Given the description of an element on the screen output the (x, y) to click on. 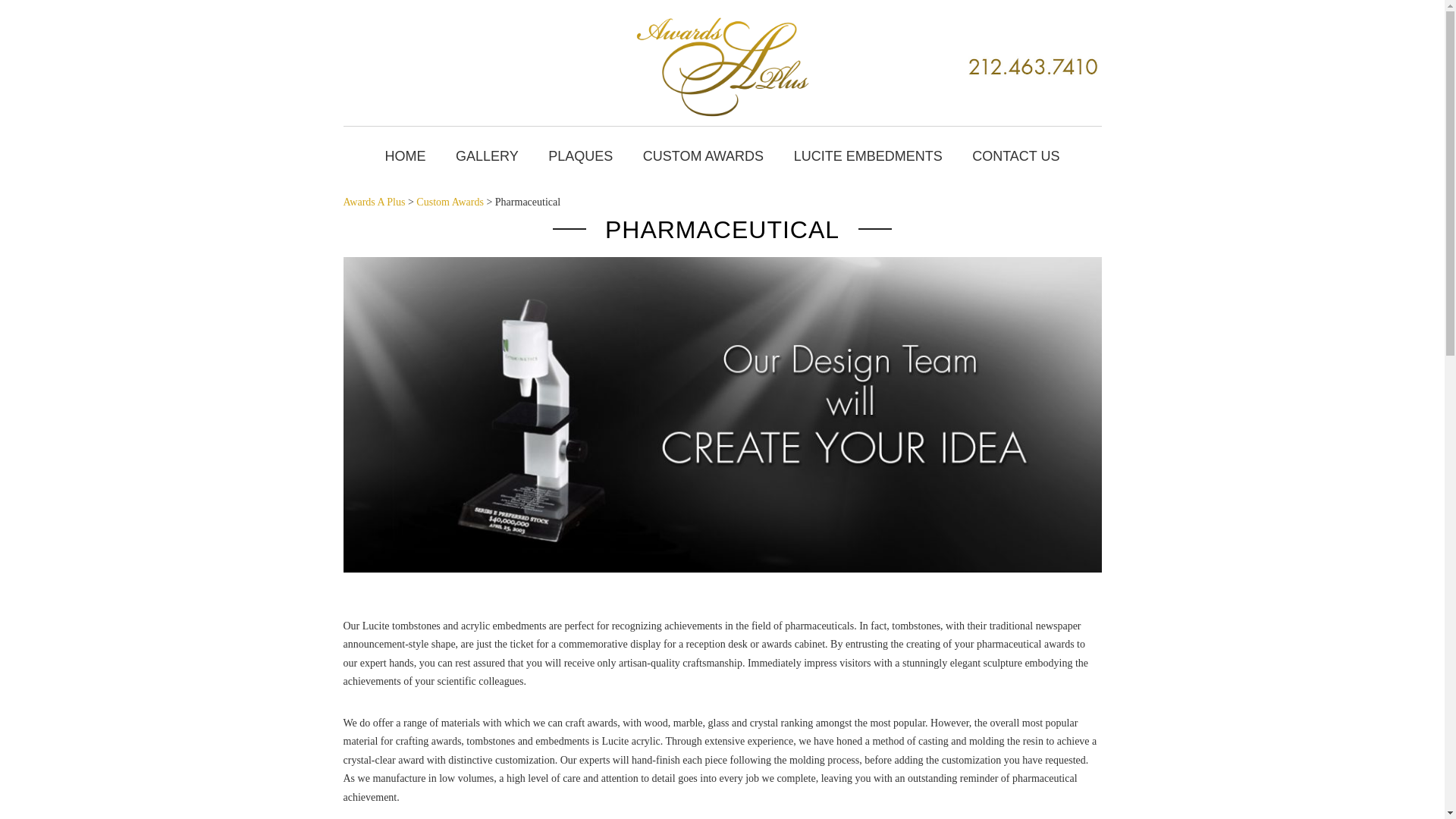
Go to Awards A Plus. (373, 201)
CUSTOM AWARDS (702, 156)
GALLERY (487, 156)
Go to Custom Awards. (449, 201)
PLAQUES (580, 156)
HOME (405, 156)
